Given the description of an element on the screen output the (x, y) to click on. 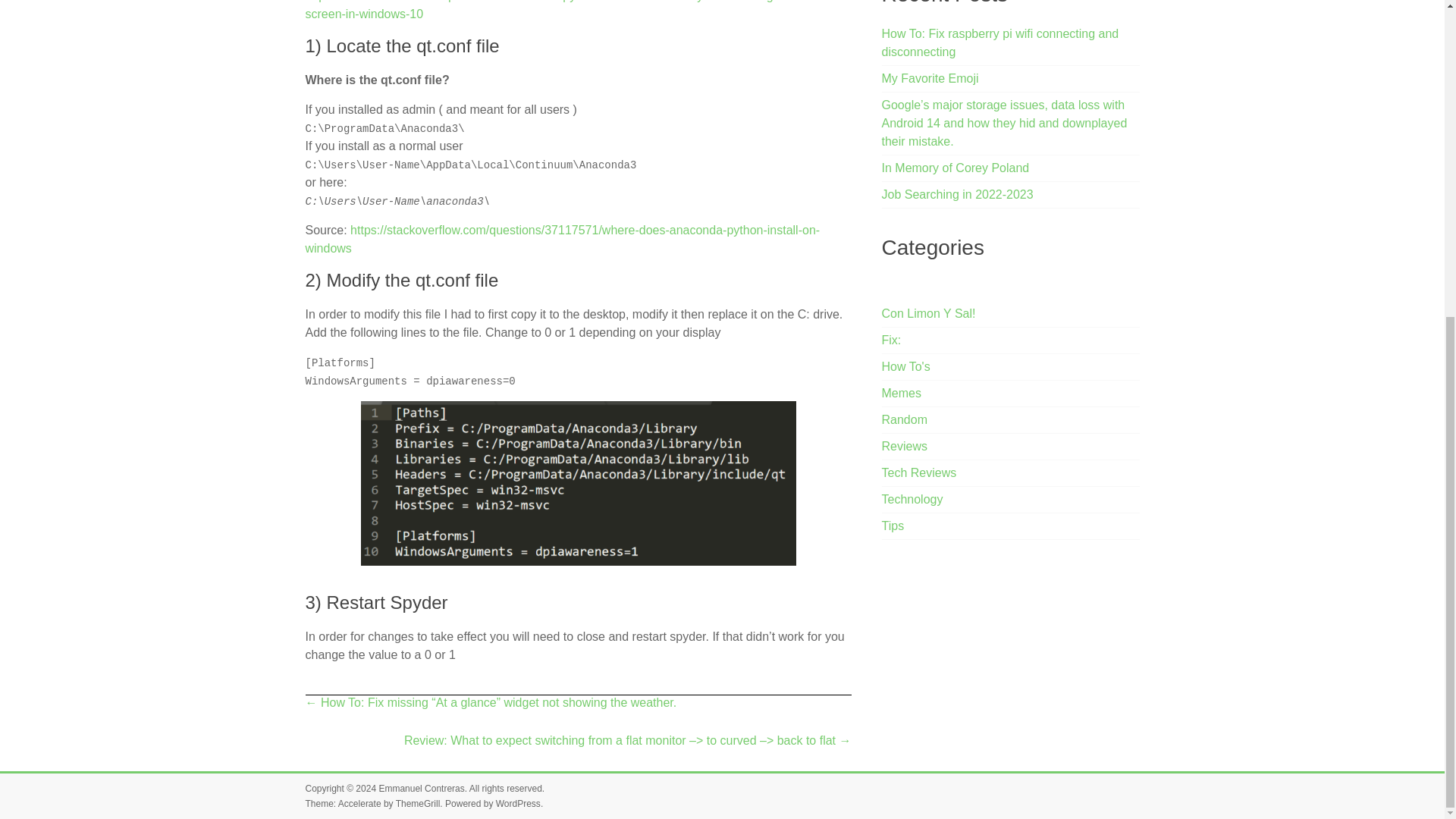
My Favorite Emoji (930, 78)
Con Limon Y Sal! (928, 313)
Job Searching in 2022-2023 (957, 194)
Accelerate (359, 803)
How To: Fix raspberry pi wifi connecting and disconnecting (1000, 42)
In Memory of Corey Poland (955, 167)
WordPress (518, 803)
Emmanuel Contreras (421, 787)
Fix: (891, 339)
